Given the description of an element on the screen output the (x, y) to click on. 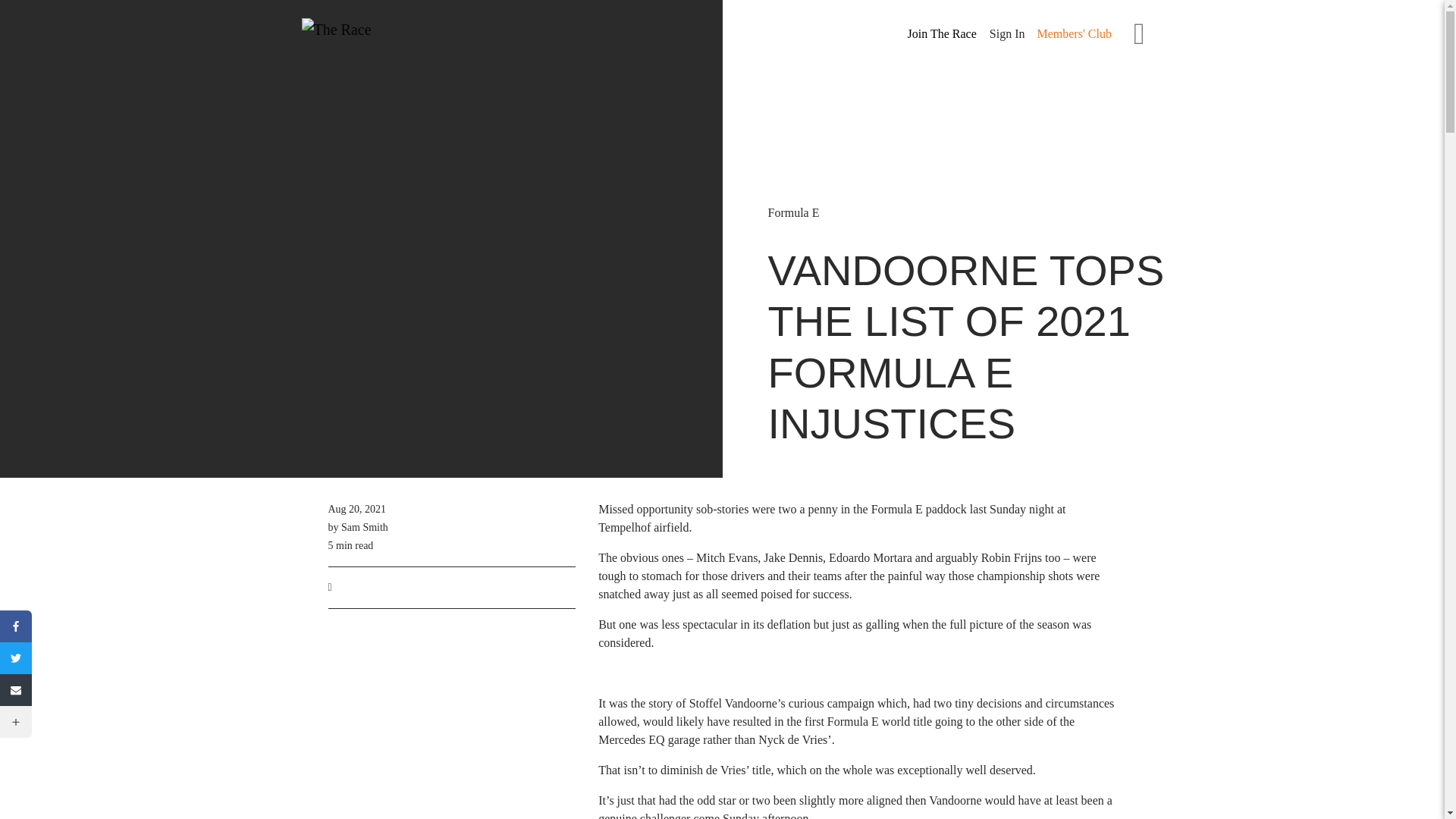
Members' Club (1073, 33)
Sign In (1007, 33)
Join The Race (941, 34)
